Given the description of an element on the screen output the (x, y) to click on. 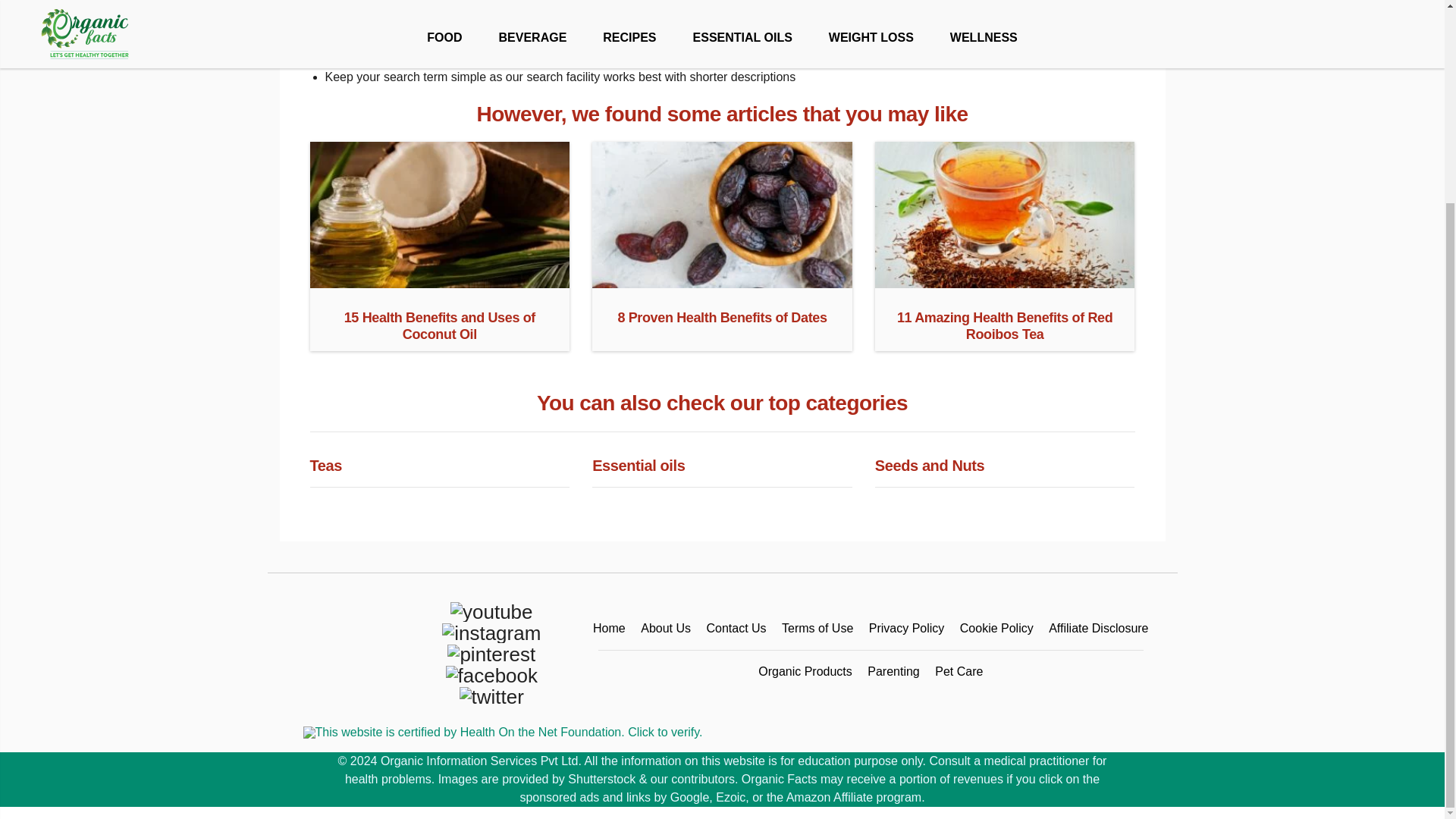
Terms of Use (817, 627)
Privacy Policy (906, 627)
Cookie Policy (996, 627)
Organic Products (804, 671)
8 Proven Health Benefits of Dates (721, 281)
Pet Care (958, 671)
Parenting (893, 671)
11 Amazing Health Benefits of Red Rooibos Tea (1005, 281)
Affiliate Disclosure (1098, 627)
Home (609, 627)
